Given the description of an element on the screen output the (x, y) to click on. 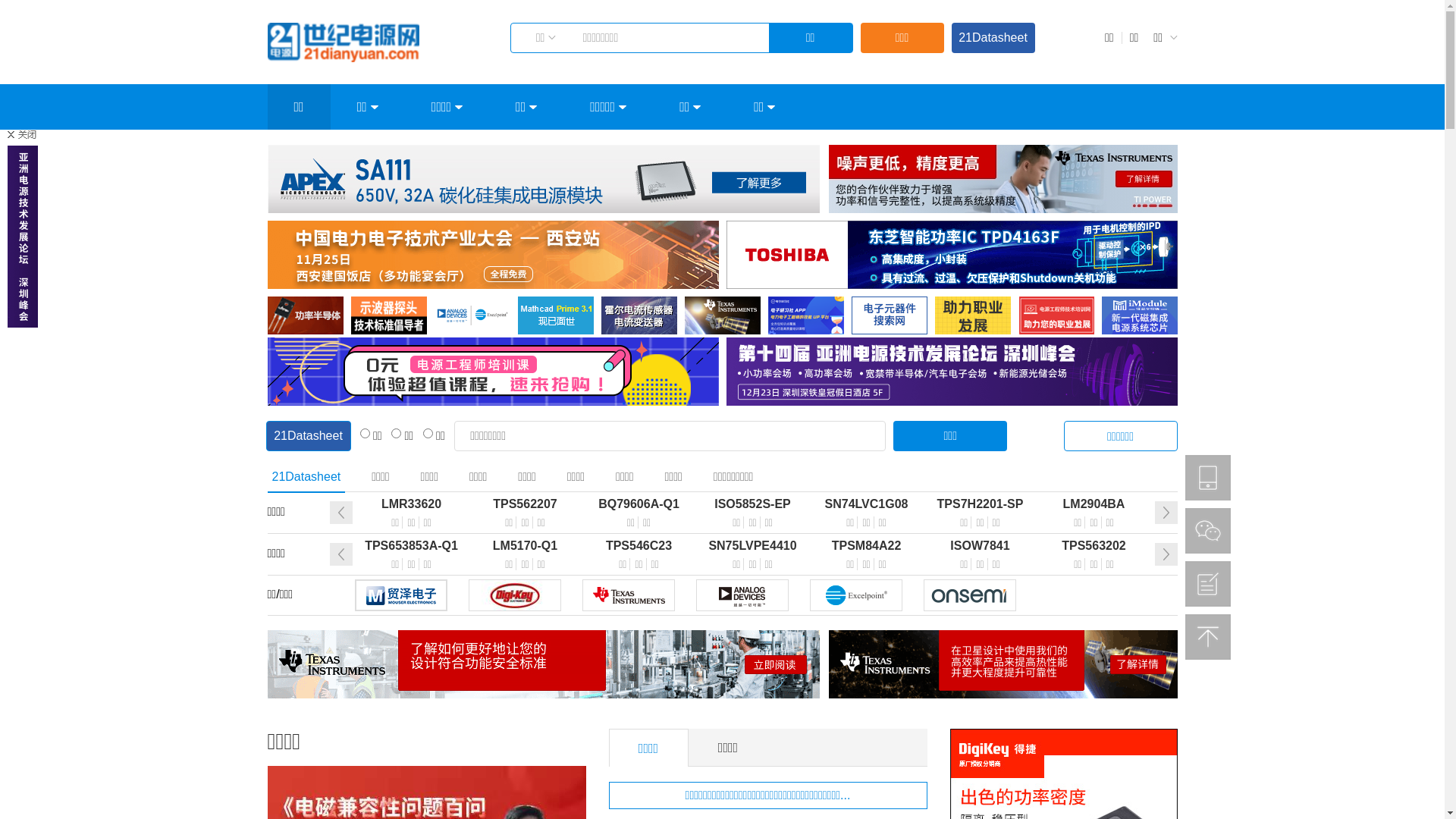
TPS563202 Element type: text (1094, 545)
TPS653853A-Q1 Element type: text (411, 545)
SN75LVPE4410 Element type: text (752, 545)
ADI Element type: hover (742, 595)
BQ79606A-Q1 Element type: text (639, 503)
21Datasheet Element type: text (307, 435)
21Datasheet Element type: text (992, 37)
LMR33620 Element type: text (411, 503)
LM5170-Q1 Element type: text (525, 545)
TPS562207 Element type: text (525, 503)
TPSM84A22 Element type: text (866, 545)
TI Element type: hover (628, 595)
21Datasheet Element type: text (305, 477)
Digi-Key Element type: hover (514, 595)
TPS546C23 Element type: text (639, 545)
SN74LVC1G08 Element type: text (866, 503)
ISOW7841 Element type: text (980, 545)
TPS7H2201-SP Element type: text (980, 503)
LM2904BA Element type: text (1094, 503)
ON Element type: hover (969, 595)
ISO5852S-EP Element type: text (752, 503)
